Given the description of an element on the screen output the (x, y) to click on. 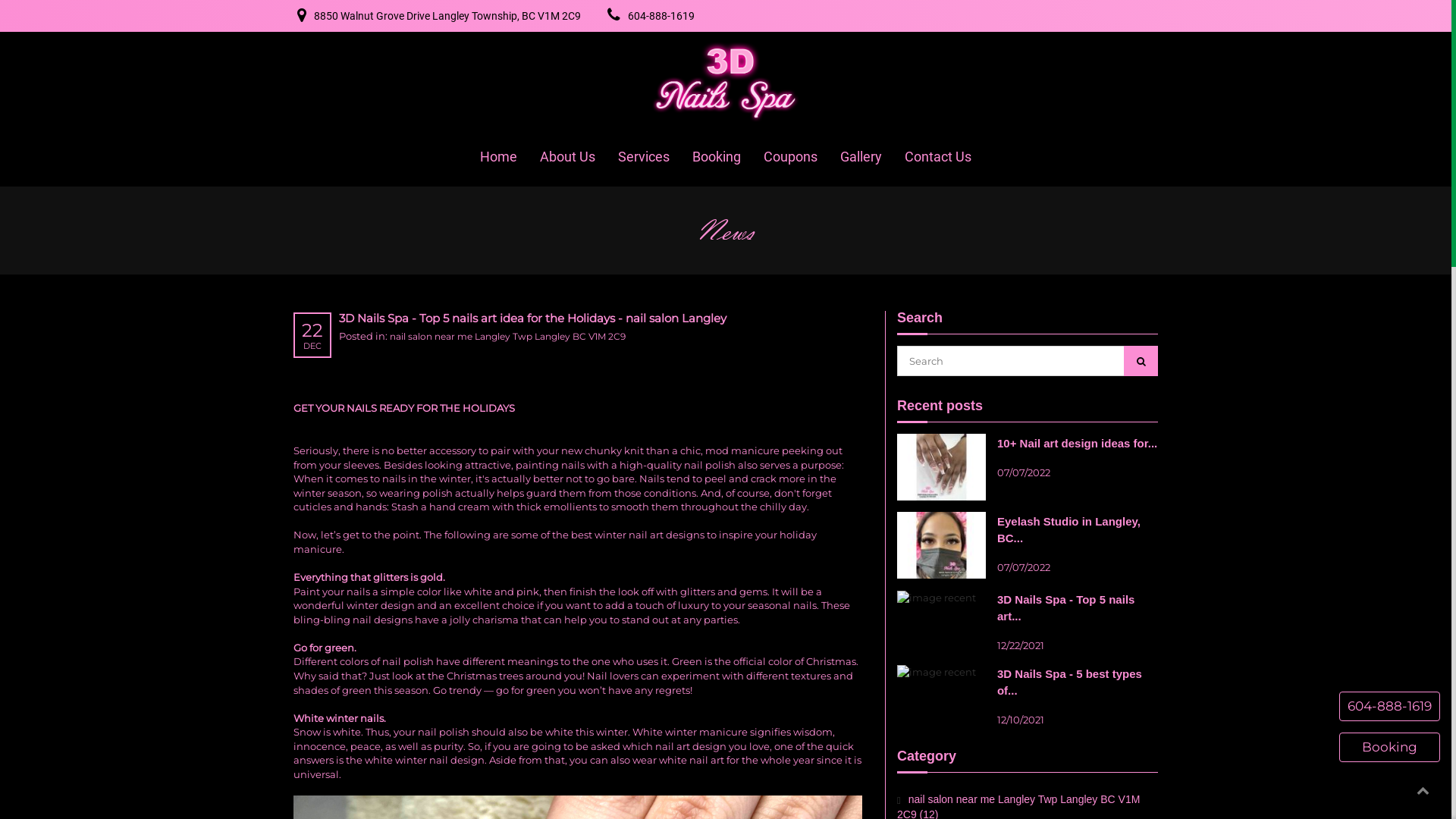
image recent Element type: hover (941, 465)
image recent Element type: hover (941, 543)
nail salon near me Langley Twp Langley BC V1M 2C9 Element type: text (507, 336)
604-888-1619 Element type: text (1389, 706)
Contact Us Element type: text (937, 156)
3D Nails Spa - Top 5 nails art... Element type: text (1065, 607)
image recent Element type: hover (936, 596)
image recent Element type: hover (936, 671)
10+ Nail art design ideas for... Element type: text (1077, 442)
Home Element type: text (498, 156)
Gallery Element type: text (860, 156)
604-888-1619 Element type: text (660, 15)
About Us Element type: text (567, 156)
Booking Element type: text (1389, 747)
Eyelash Studio in Langley, BC... Element type: text (1068, 529)
3D Nails Spa - 5 best types of... Element type: text (1069, 681)
Coupons Element type: text (790, 156)
Booking Element type: text (716, 156)
Services Element type: text (643, 156)
